Given the description of an element on the screen output the (x, y) to click on. 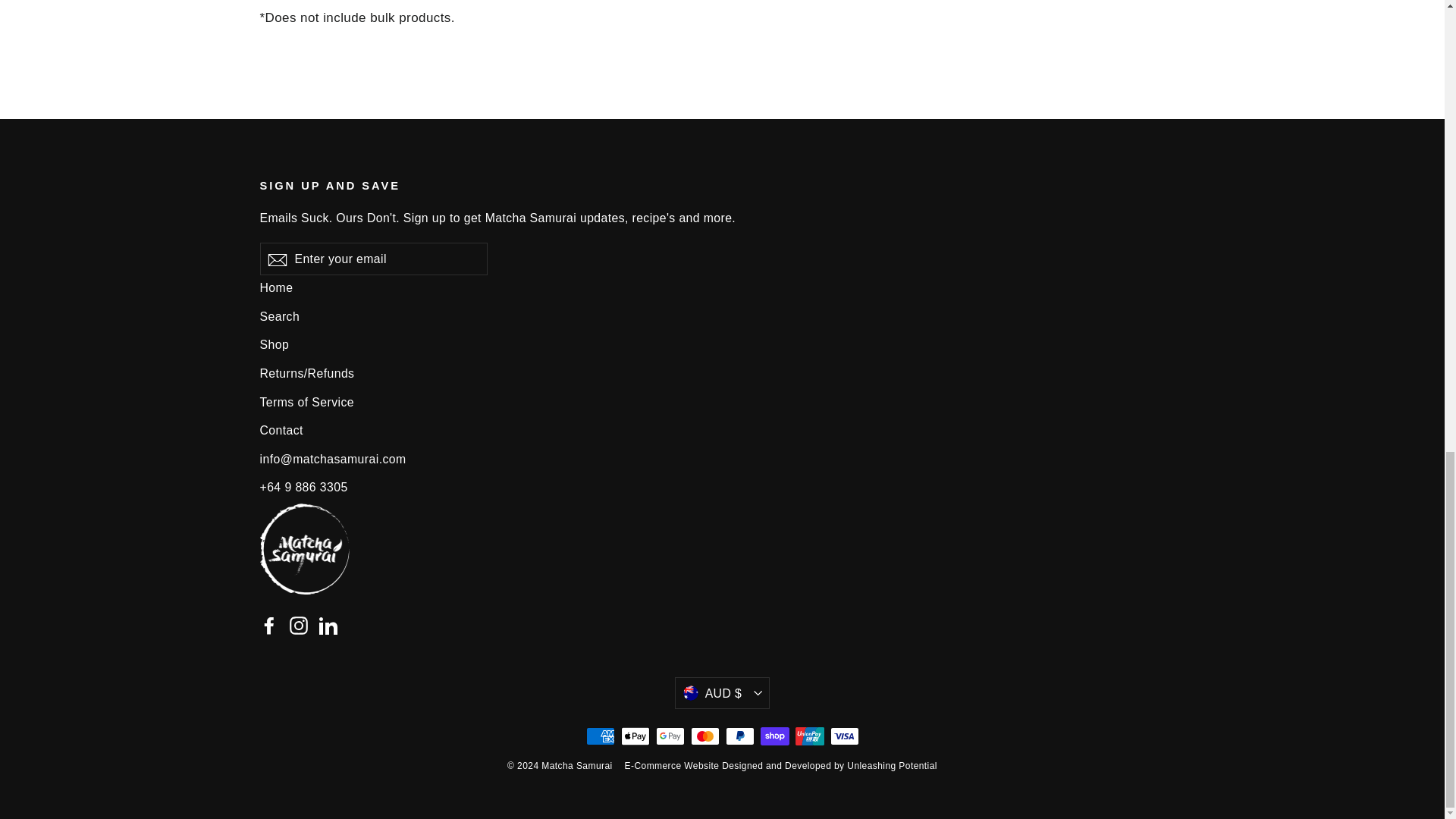
American Express (599, 736)
Union Pay (809, 736)
Apple Pay (634, 736)
Google Pay (669, 736)
Mastercard (704, 736)
Shop Pay (774, 736)
Matcha Samurai on LinkedIn (327, 624)
Matcha Samurai on Instagram (298, 624)
PayPal (739, 736)
Visa (844, 736)
